Given the description of an element on the screen output the (x, y) to click on. 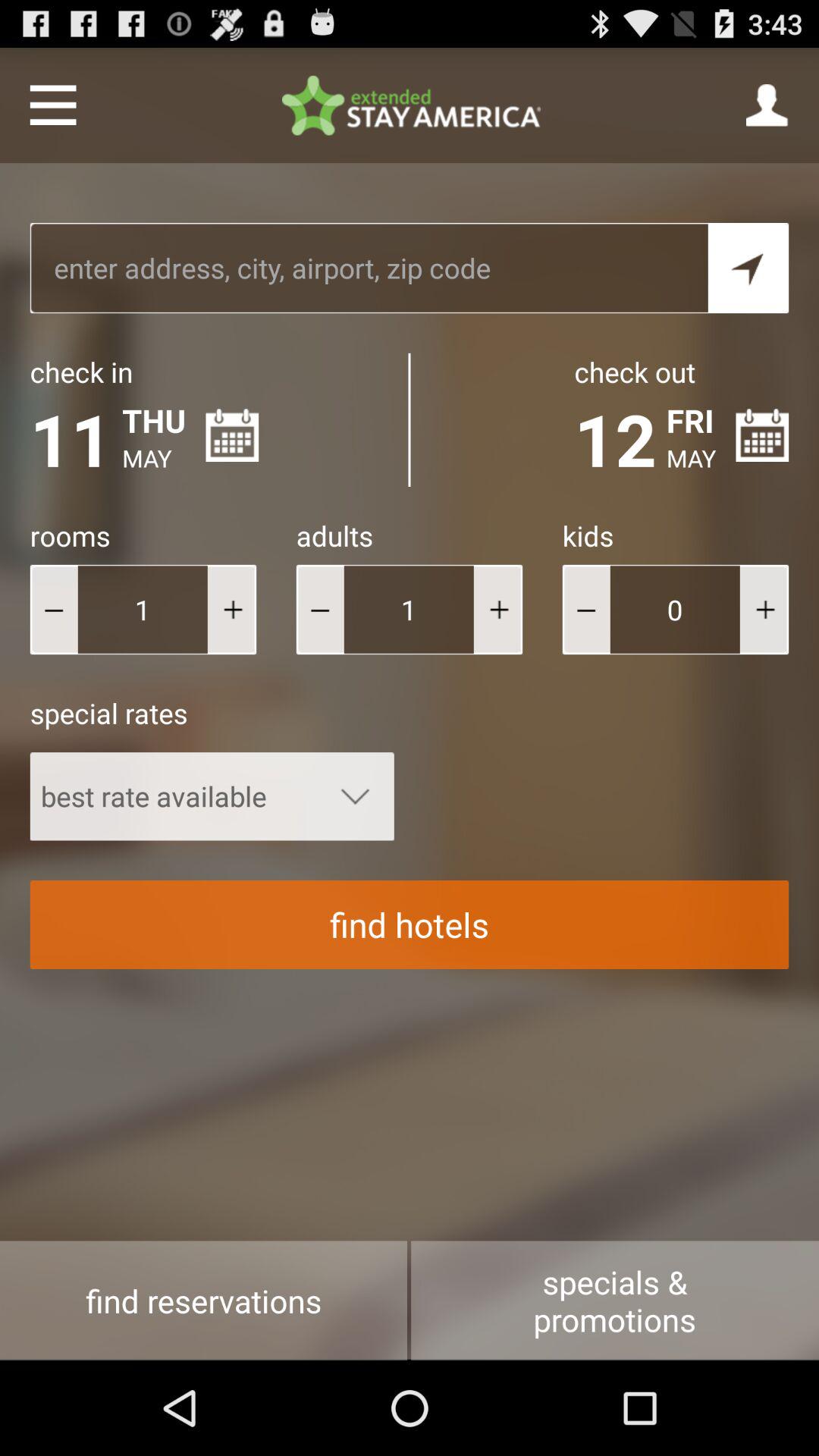
profile (767, 105)
